Given the description of an element on the screen output the (x, y) to click on. 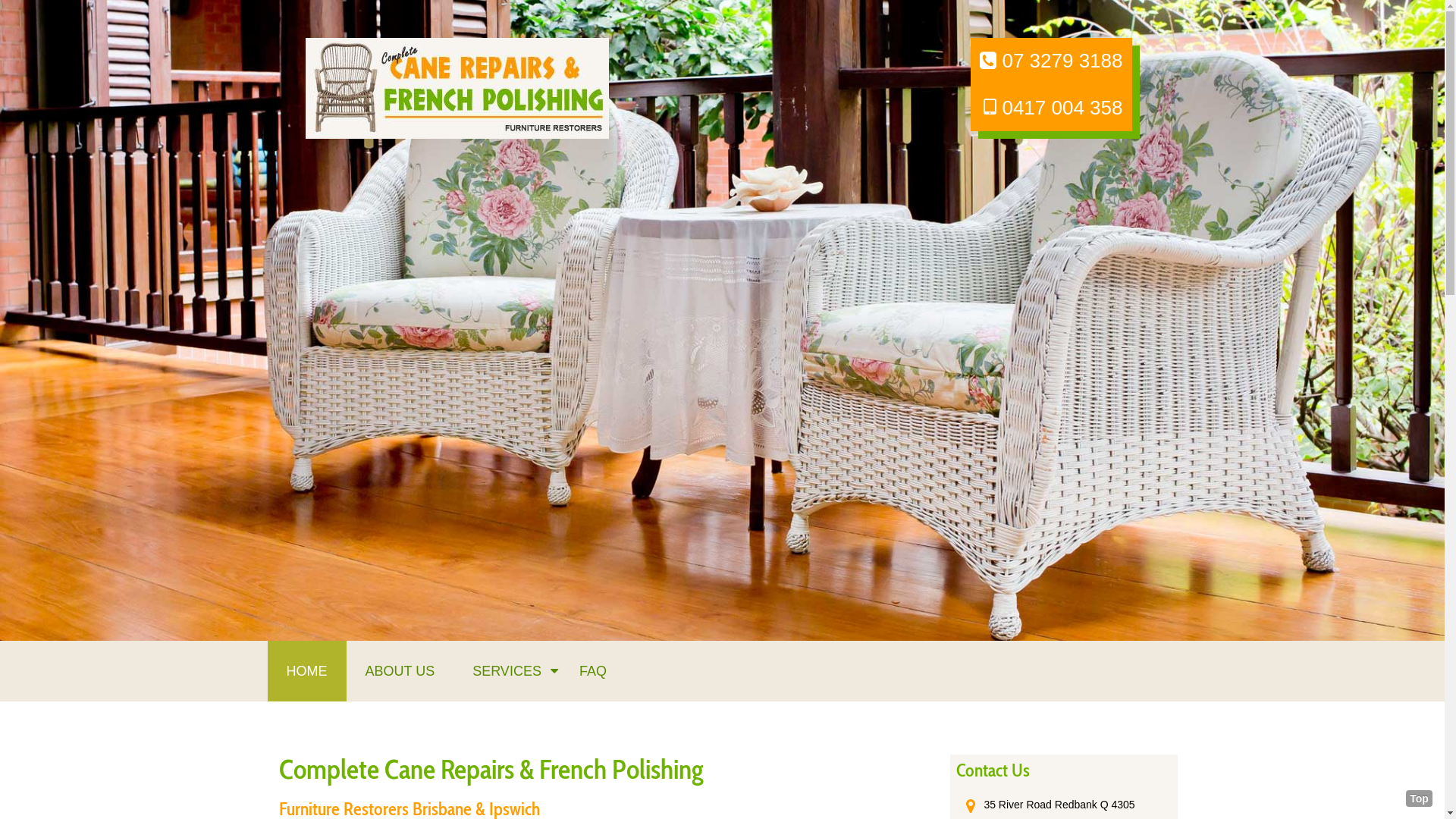
FAQ Element type: text (592, 670)
HOME Element type: text (305, 670)
0417 004 358 Element type: text (1052, 107)
ABOUT US Element type: text (399, 670)
Complete Cane Repairs & French Polishing Ipswich Element type: hover (456, 87)
SERVICES Element type: text (506, 670)
Top Element type: text (1418, 798)
Address Element type: hover (970, 805)
07 3279 3188 Element type: text (1050, 60)
